Given the description of an element on the screen output the (x, y) to click on. 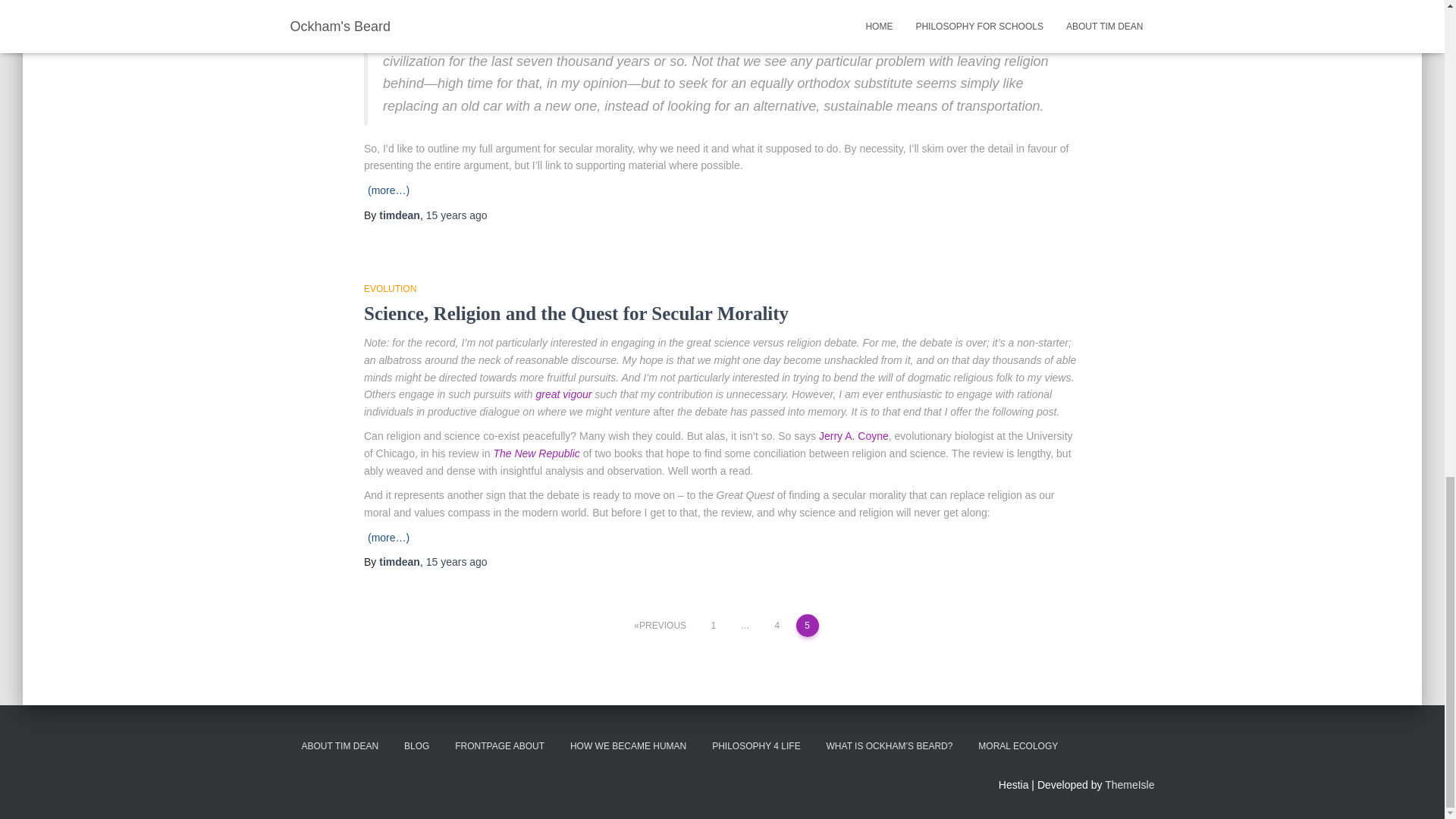
EVOLUTION (390, 288)
15 years ago (456, 215)
timdean (399, 562)
vigour (576, 394)
timdean (399, 562)
great (547, 394)
Coyne (872, 435)
View all posts in evolution (390, 288)
The New Republic (536, 453)
timdean (399, 215)
15 years ago (456, 562)
Science, Religion and the Quest for Secular Morality (576, 313)
1 (713, 625)
Science, Religion and the Quest for Secular Morality (576, 313)
timdean (399, 215)
